Given the description of an element on the screen output the (x, y) to click on. 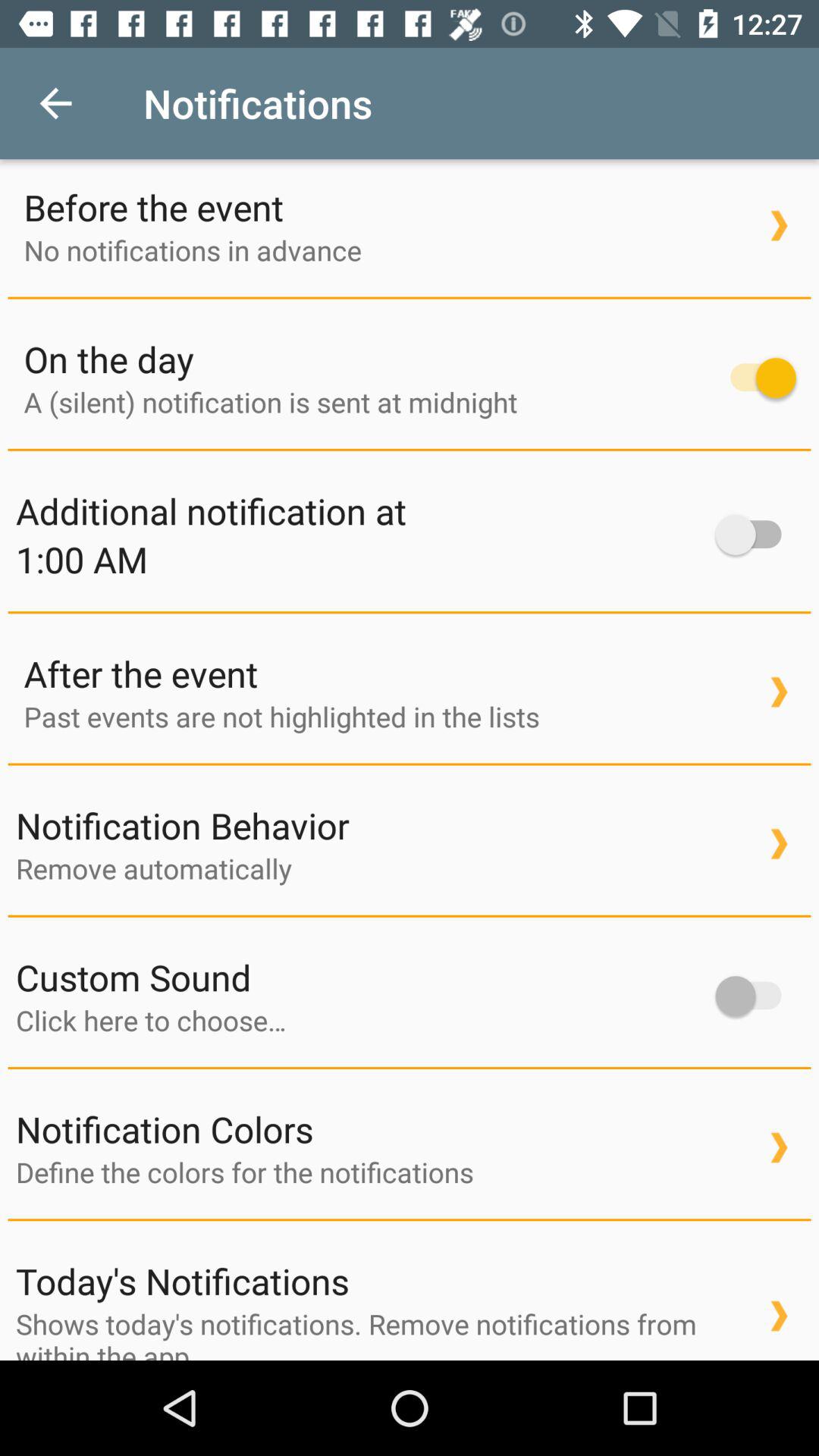
toggle notification on day of event (755, 377)
